Given the description of an element on the screen output the (x, y) to click on. 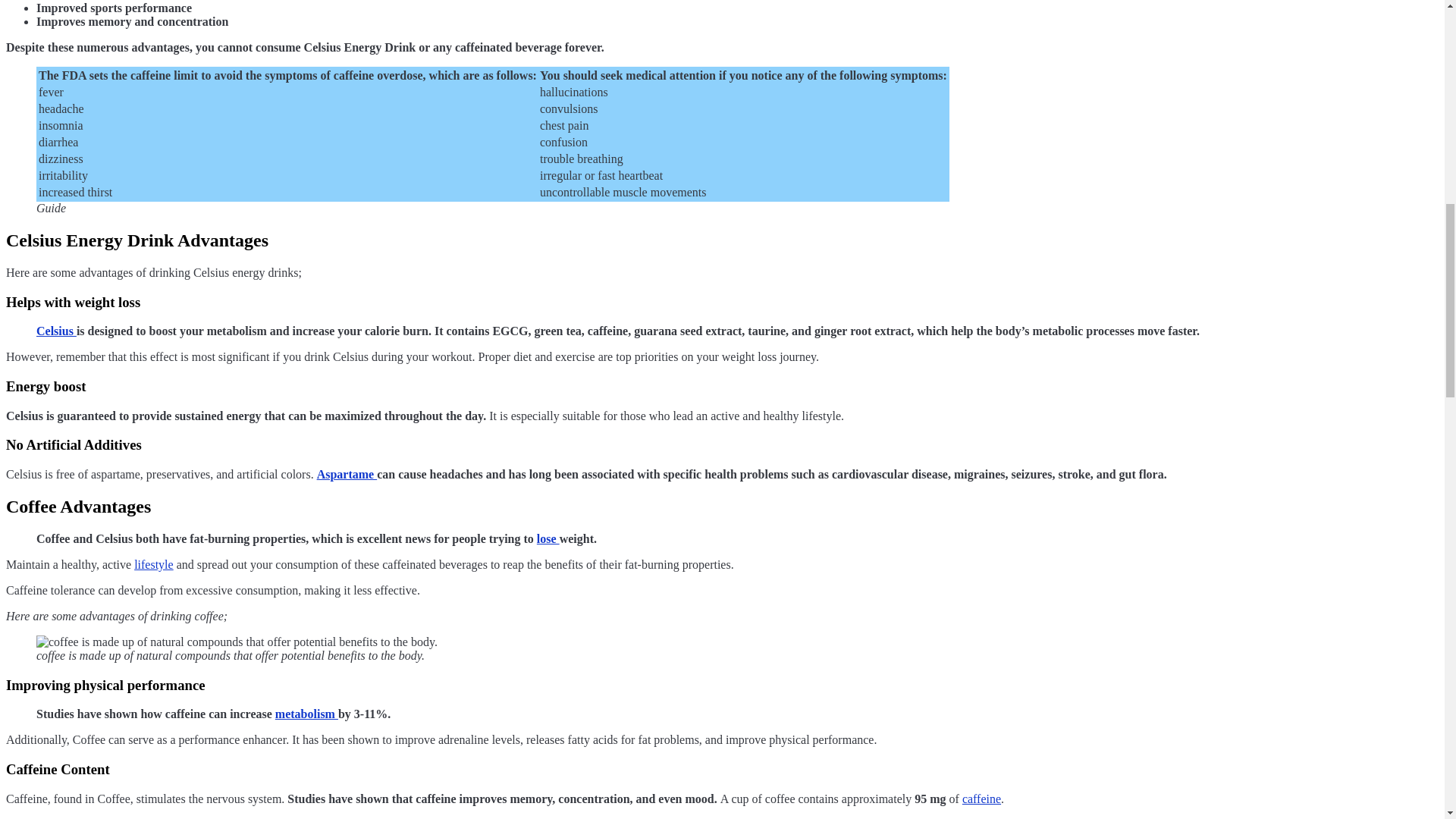
Celsius (56, 330)
metabolism (306, 713)
Aspartame (347, 473)
lifestyle (153, 563)
caffeine (981, 798)
lose (548, 538)
